Given the description of an element on the screen output the (x, y) to click on. 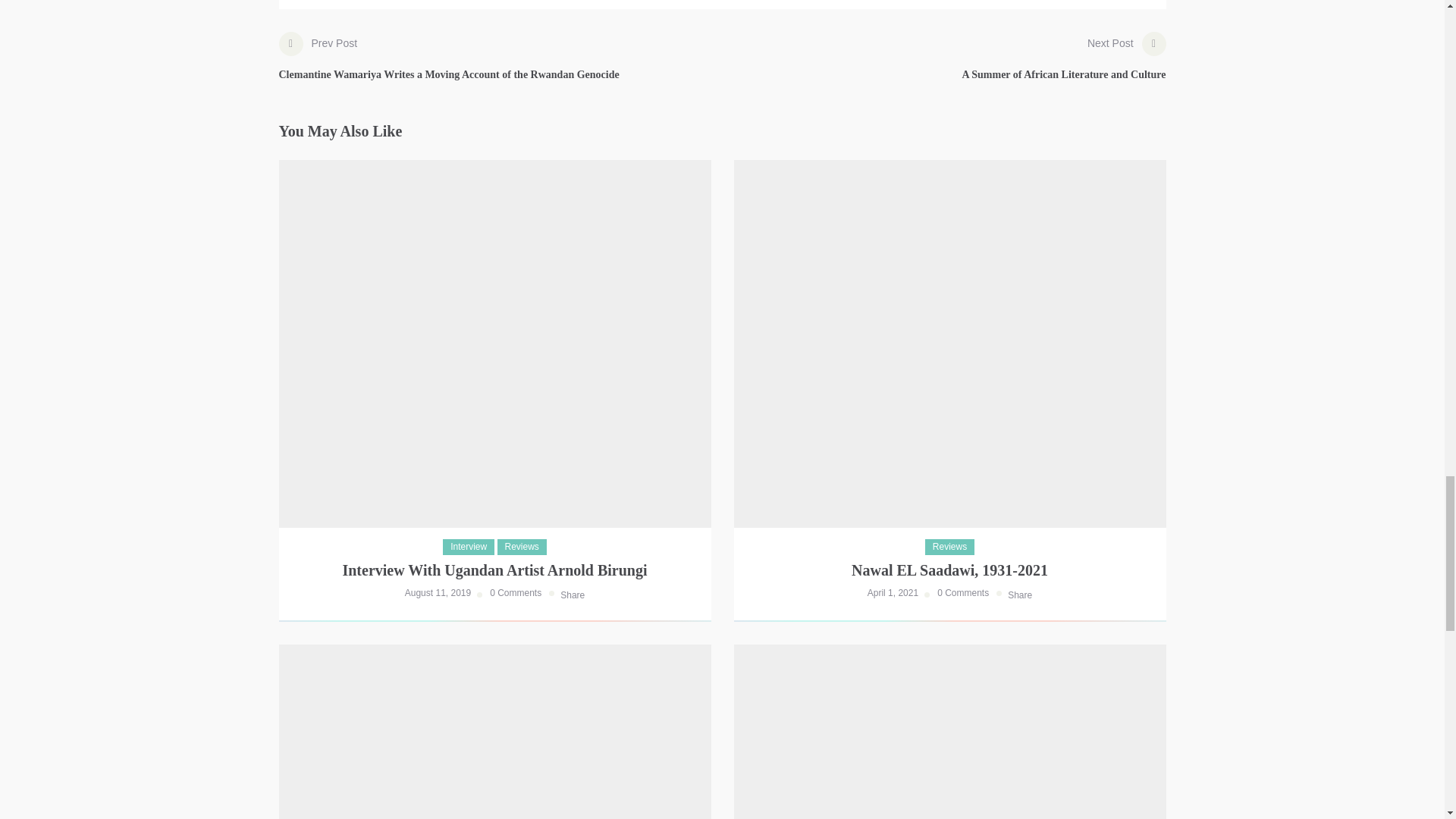
next post (1063, 64)
Reviews (1063, 64)
Interview (522, 546)
Interview With Ugandan Artist Arnold Birungi (468, 546)
0 Comments (494, 569)
prev post (515, 593)
August 11, 2019 (449, 64)
